Given the description of an element on the screen output the (x, y) to click on. 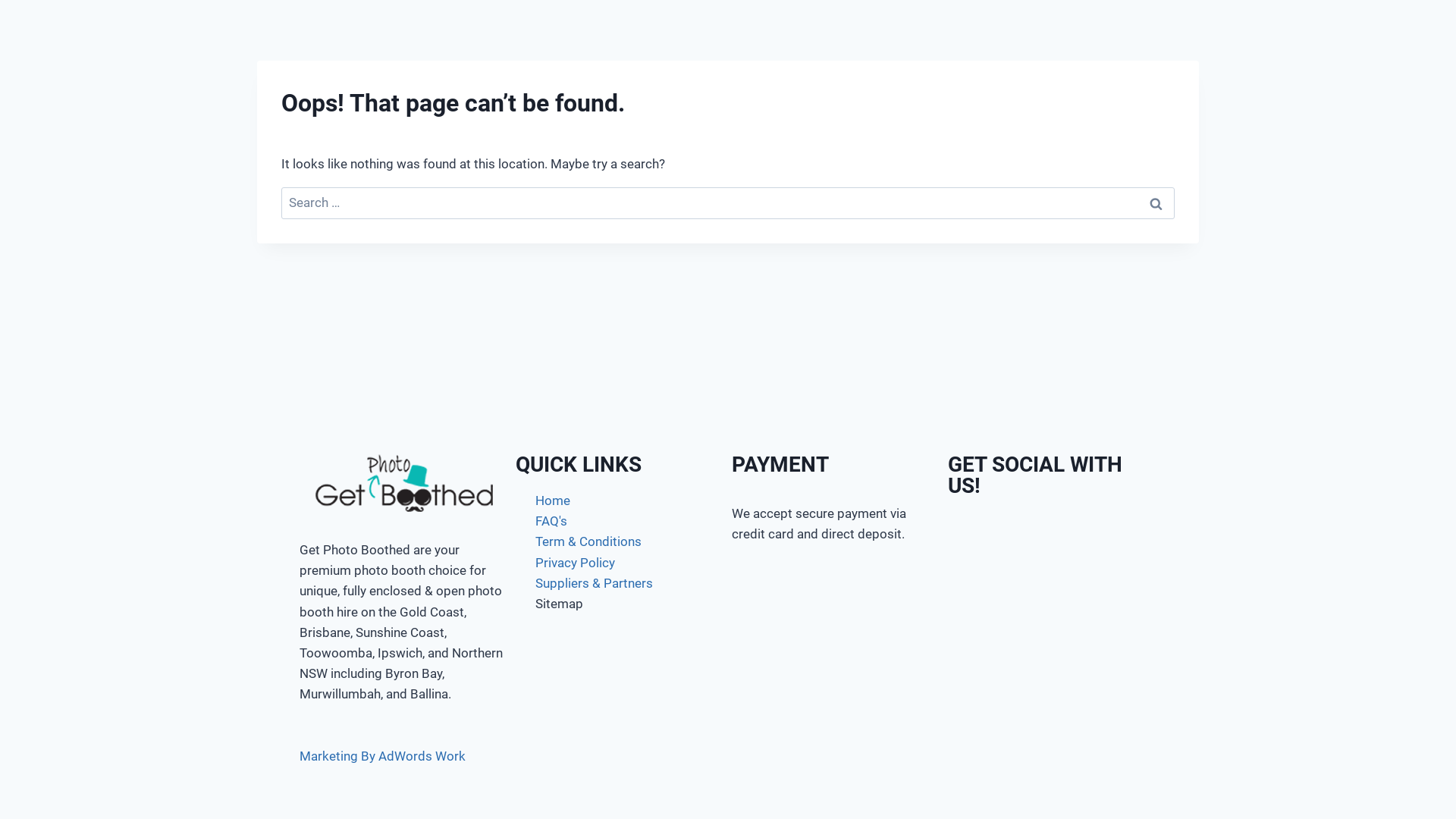
Term & Conditions Element type: text (619, 541)
FAQ's Element type: text (619, 521)
Suppliers & Partners Element type: text (619, 583)
Search Element type: text (1155, 203)
Marketing By AdWords Work Element type: text (382, 754)
Home Element type: text (619, 500)
Privacy Policy Element type: text (619, 562)
